Given the description of an element on the screen output the (x, y) to click on. 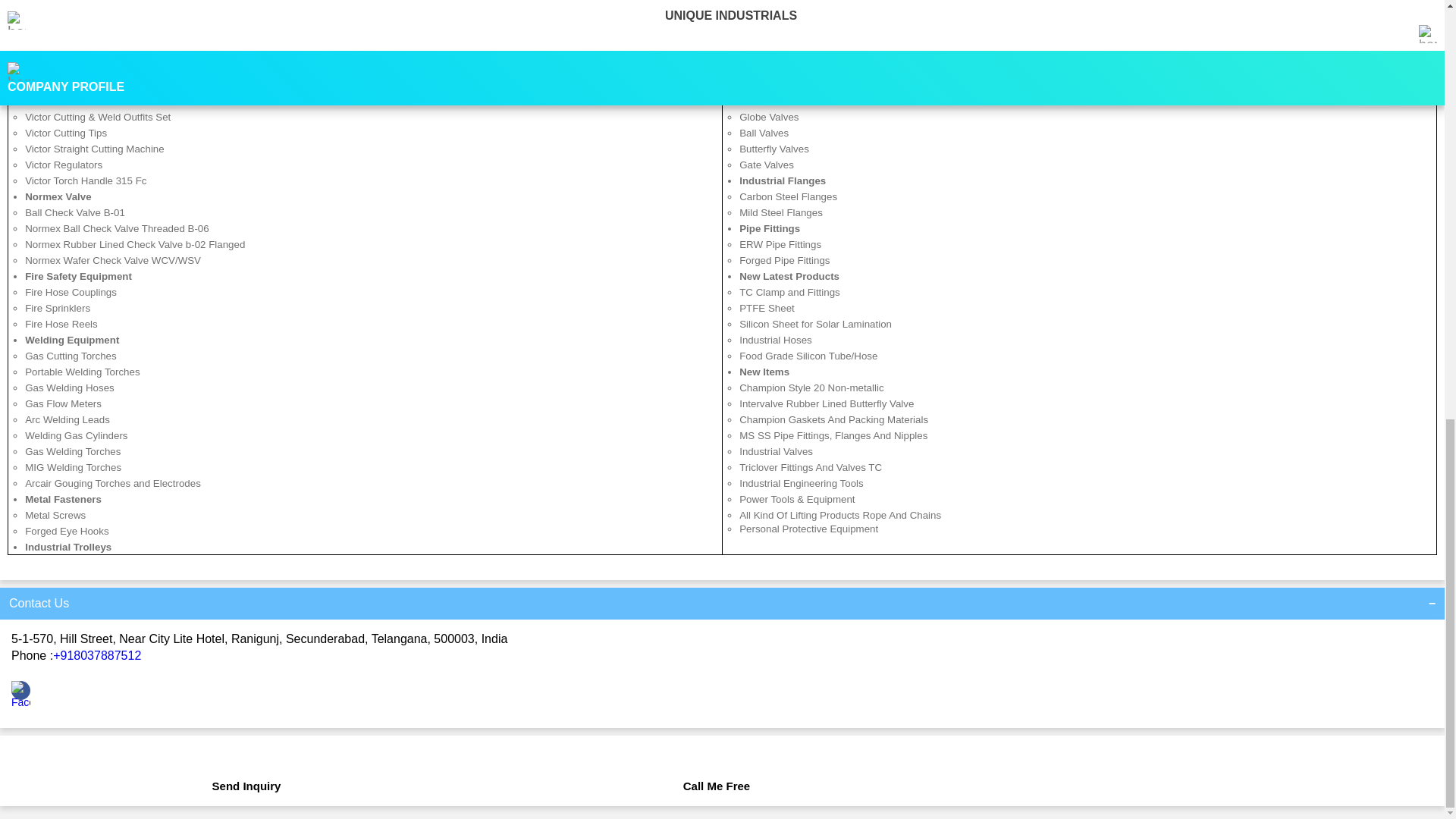
Send Inquiry (246, 778)
Facebook (20, 702)
Call Me Free (716, 778)
